Given the description of an element on the screen output the (x, y) to click on. 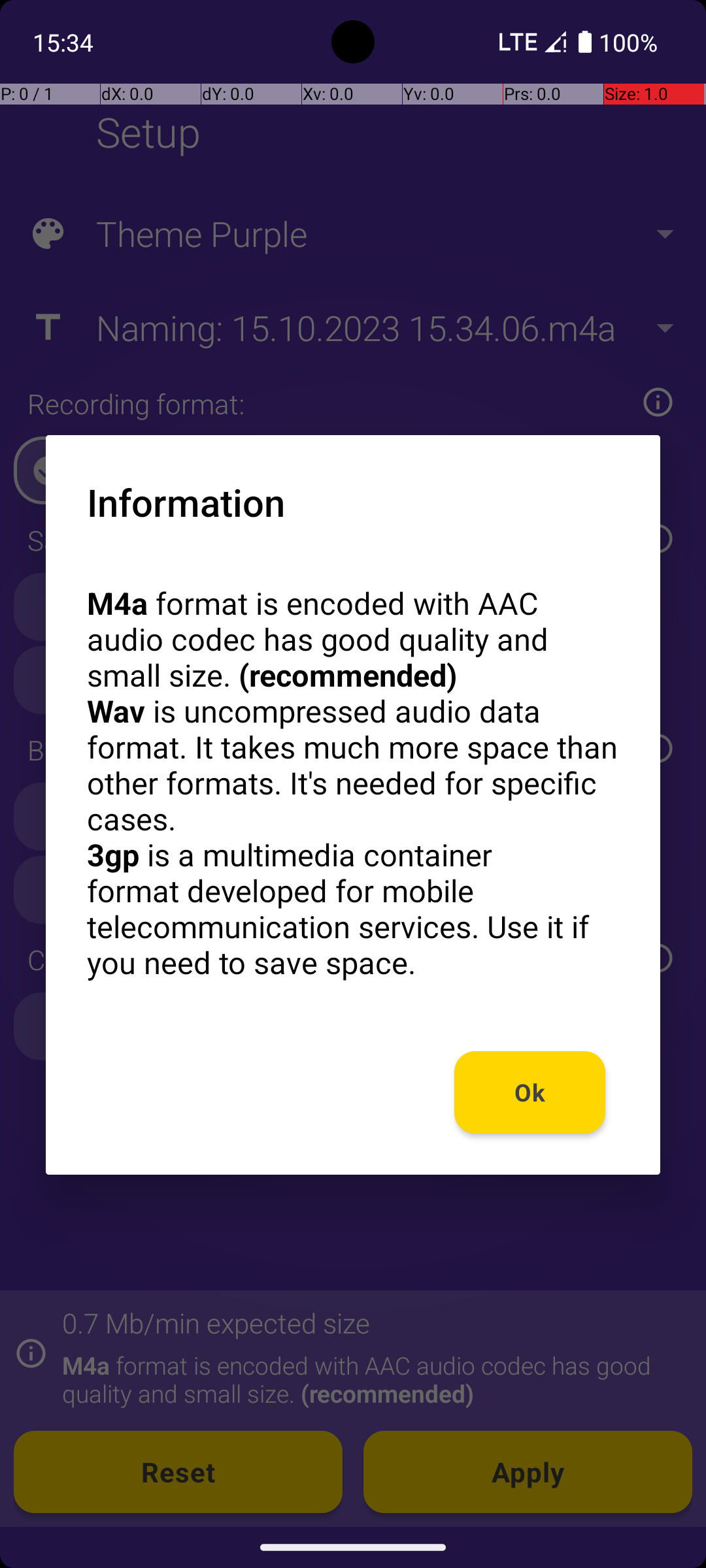
Information Element type: android.widget.TextView (185, 501)
M4a format is encoded with AAC audio codec has good quality and small size. (recommended) 
Wav is uncompressed audio data format. It takes much more space than other formats. It's needed for specific cases. 
3gp is a multimedia container format developed for mobile telecommunication services. Use it if you need to save space.  Element type: android.widget.TextView (352, 782)
Ok Element type: android.widget.Button (529, 1092)
